Given the description of an element on the screen output the (x, y) to click on. 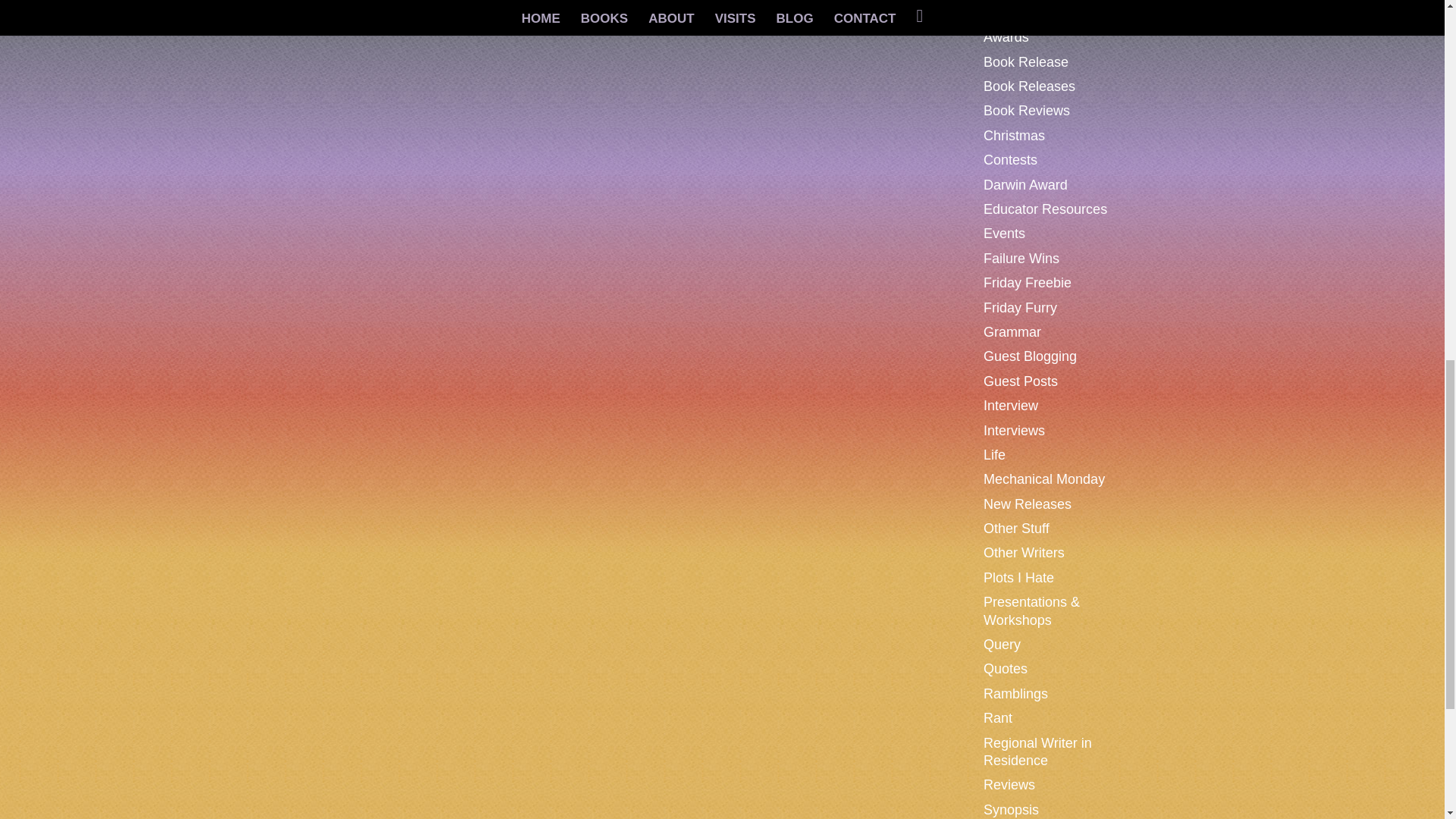
Awards (1006, 37)
Grammar (1012, 331)
Educator Resources (1045, 209)
Book Release (1026, 61)
Failure Wins (1021, 258)
Guest Posts (1021, 381)
Book Releases (1029, 86)
Events (1004, 233)
Darwin Award (1025, 184)
Guest Blogging (1030, 355)
